Given the description of an element on the screen output the (x, y) to click on. 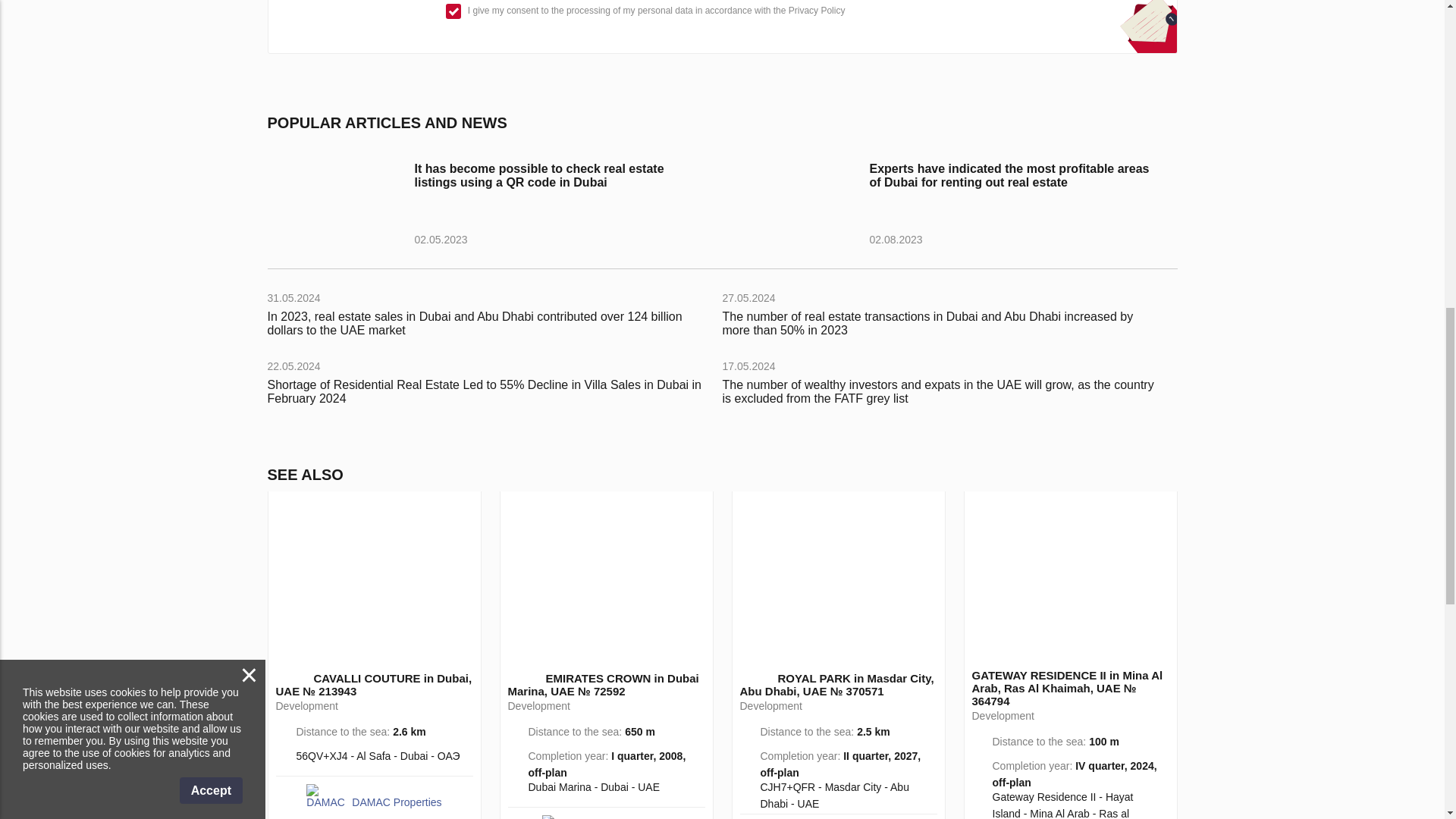
Verified developer (534, 676)
Add to comparison (433, 509)
Verified developer (303, 676)
Save to wishlist (693, 509)
Add to comparison (665, 509)
Popular developer (285, 676)
Save to wishlist (461, 509)
Popular developer (517, 676)
